Given the description of an element on the screen output the (x, y) to click on. 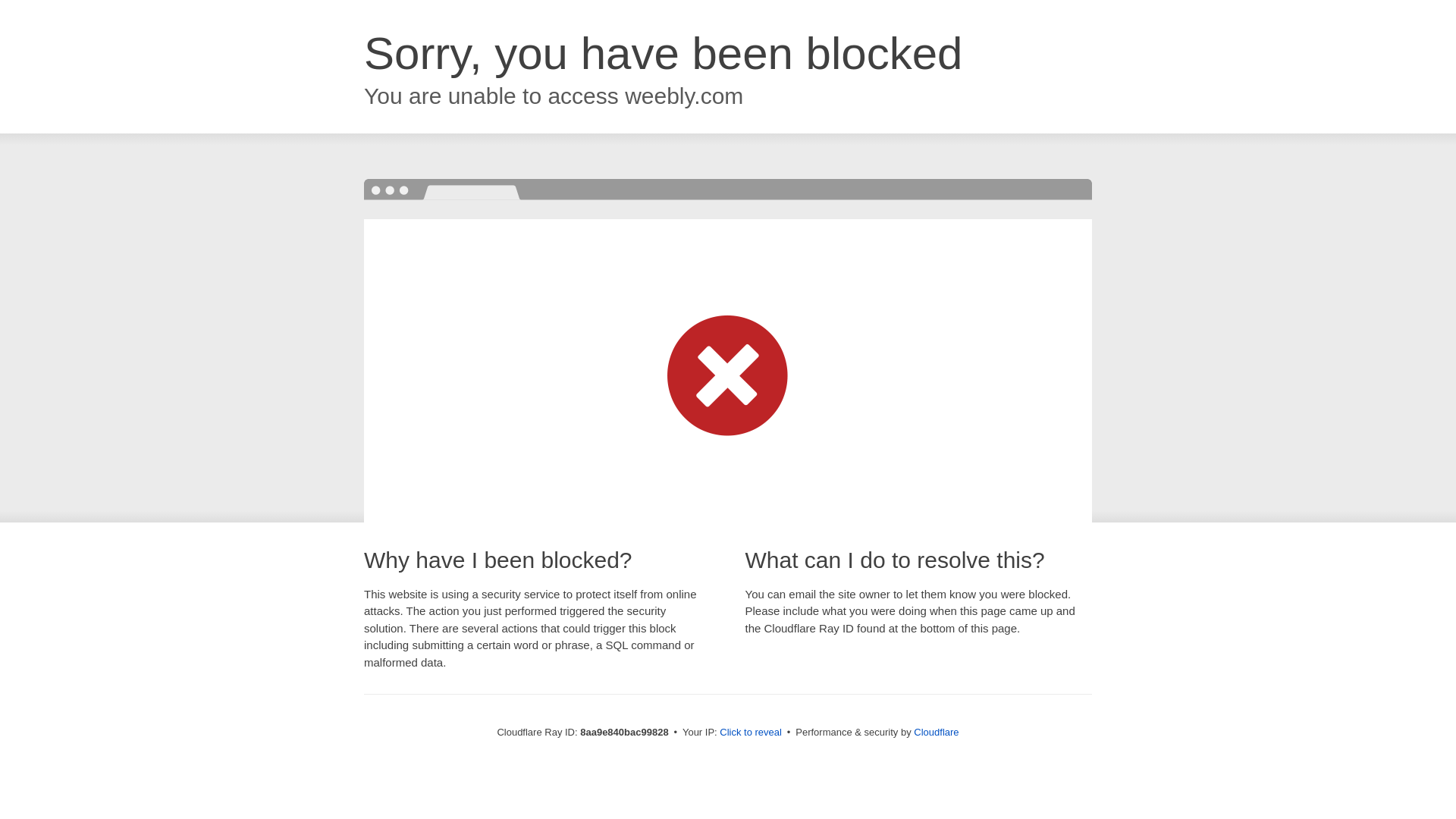
Click to reveal (750, 732)
Cloudflare (936, 731)
